Given the description of an element on the screen output the (x, y) to click on. 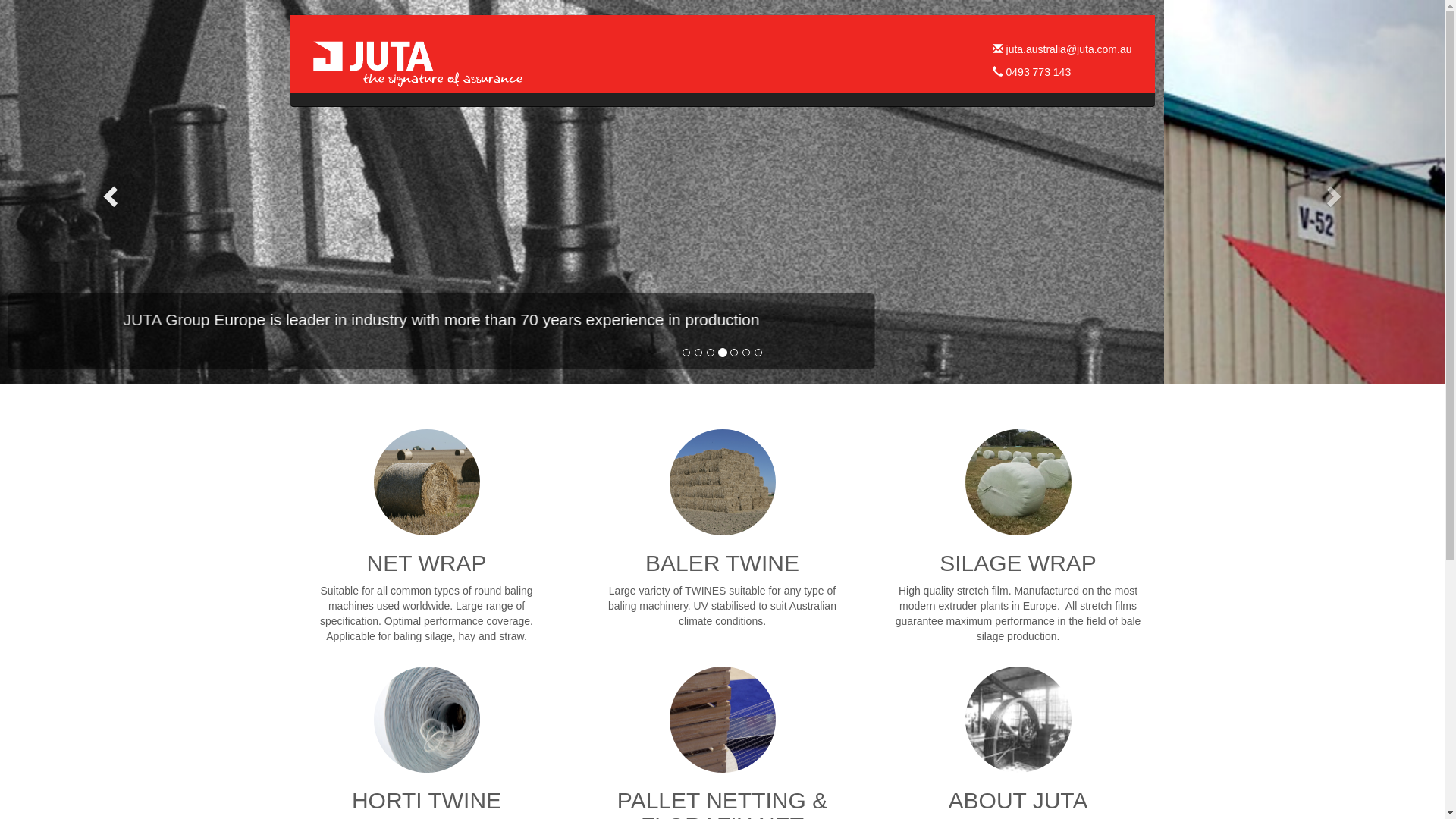
0493 773 143 Element type: text (1031, 71)
Previous Element type: text (108, 191)
juta.australia@juta.com.au Element type: text (1062, 49)
Next Element type: text (1335, 191)
